Given the description of an element on the screen output the (x, y) to click on. 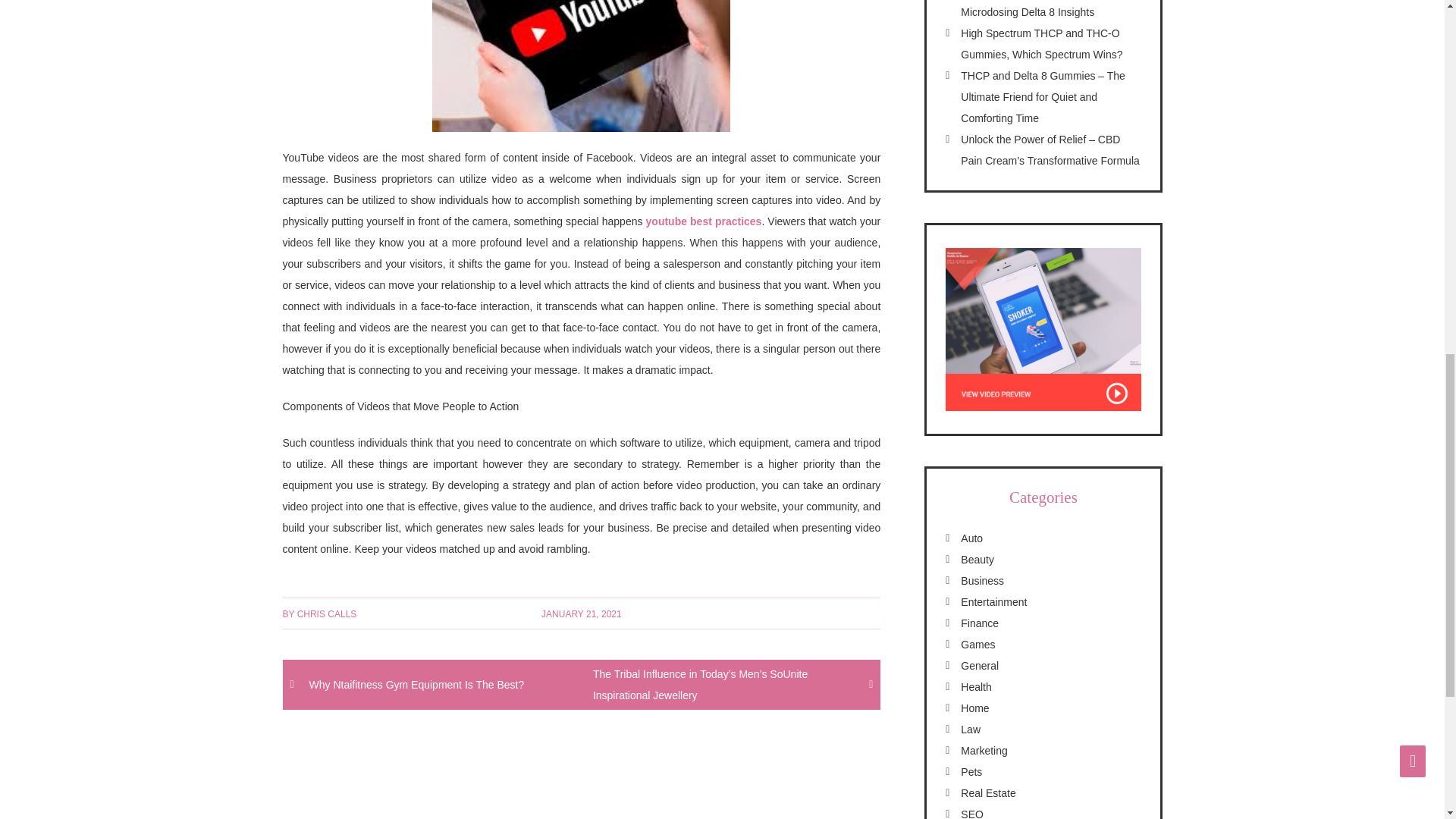
Auto (971, 538)
High Spectrum THCP and THC-O Gummies, Which Spectrum Wins? (1041, 43)
Business (982, 580)
SEO (972, 813)
Games (977, 644)
Pets (970, 771)
Beauty (977, 559)
11:15 am (581, 614)
Real Estate (987, 793)
Marketing (983, 750)
